Given the description of an element on the screen output the (x, y) to click on. 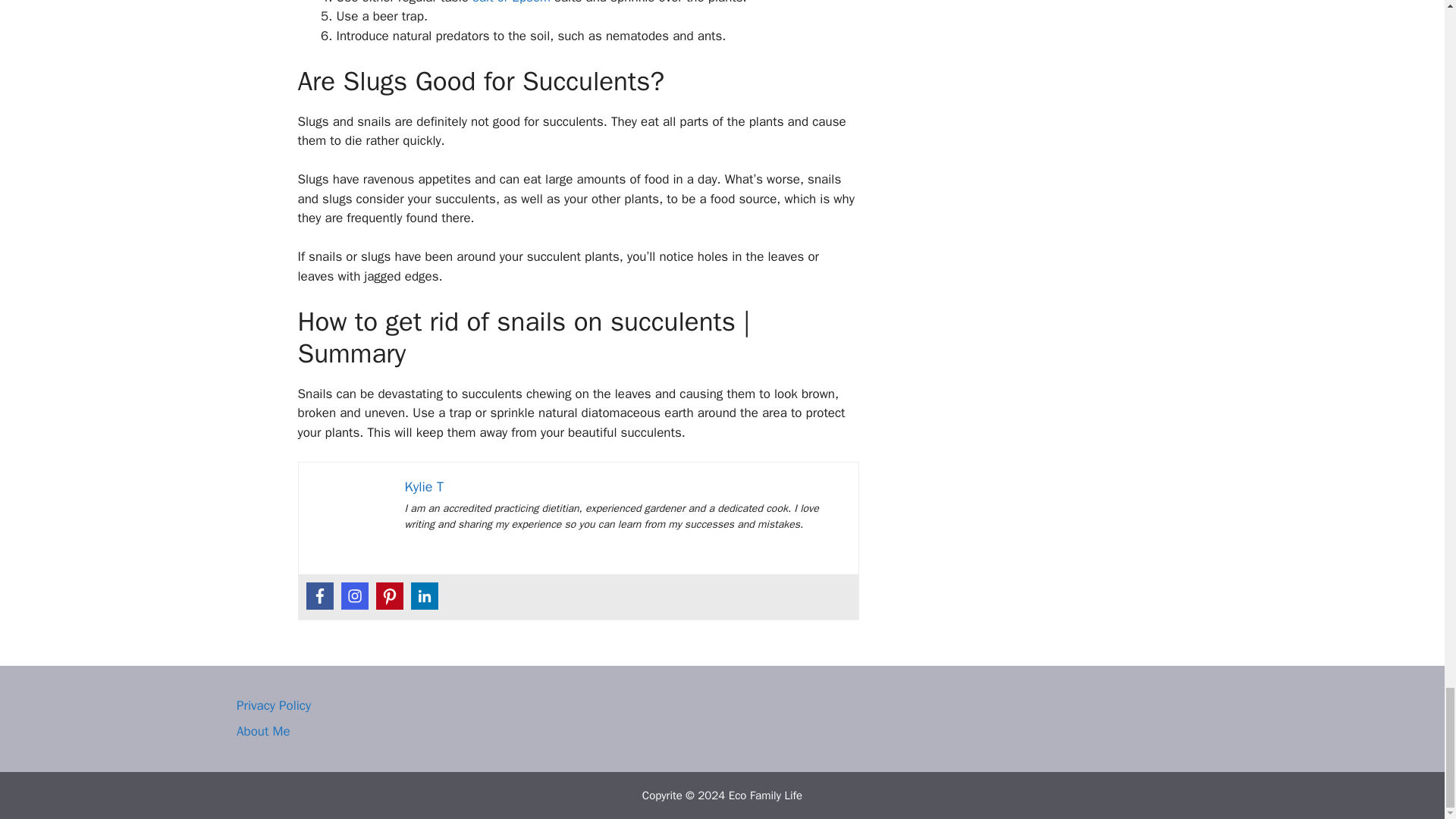
Pinterest (389, 595)
Kylie T (424, 486)
Facebook (319, 595)
About Me (262, 731)
salt or Epsom (510, 2)
Privacy Policy (273, 705)
Instagram (354, 595)
Linkedin (424, 595)
